Given the description of an element on the screen output the (x, y) to click on. 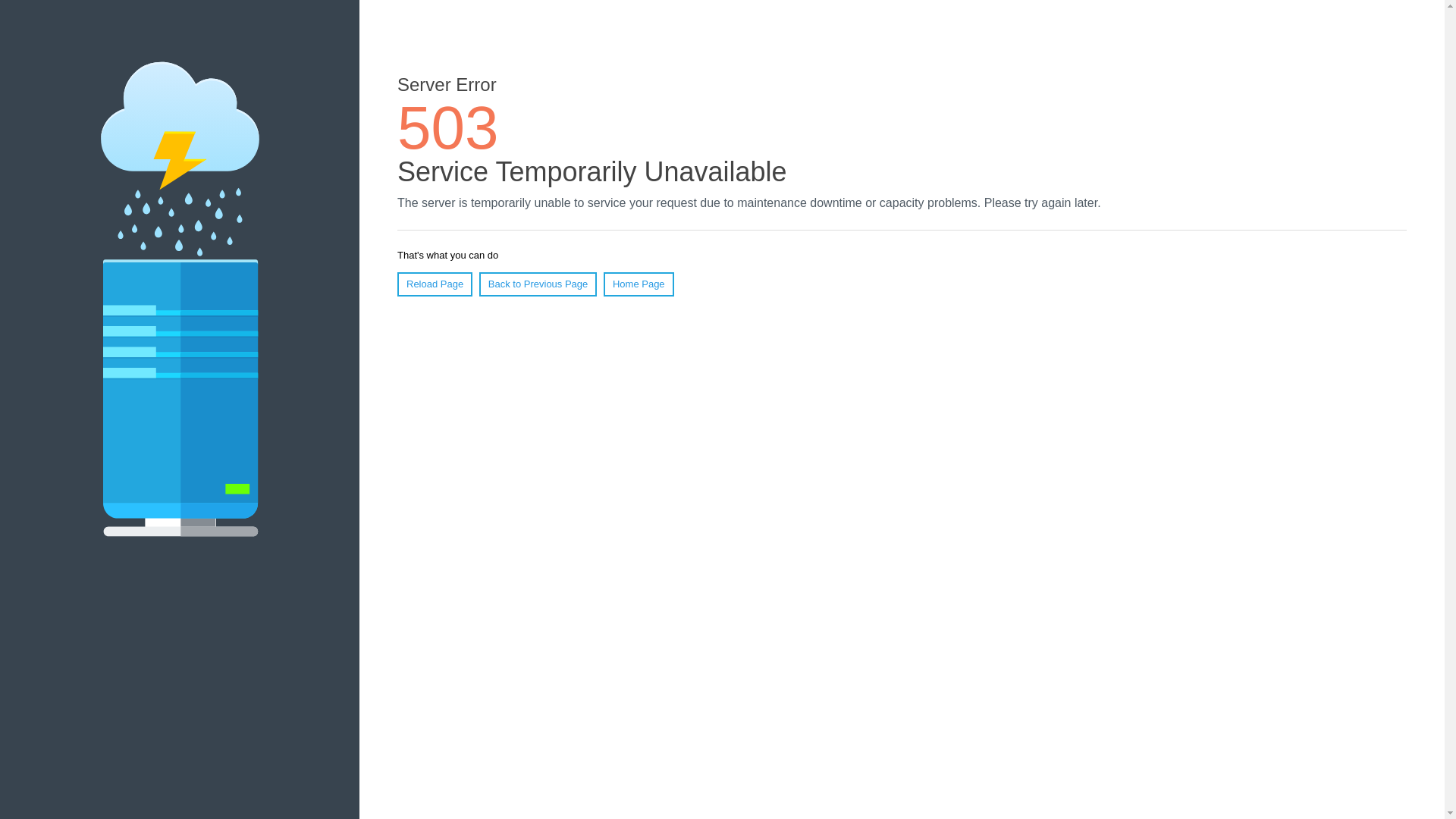
Back to Previous Page Element type: text (538, 284)
Reload Page Element type: text (434, 284)
Home Page Element type: text (638, 284)
